Given the description of an element on the screen output the (x, y) to click on. 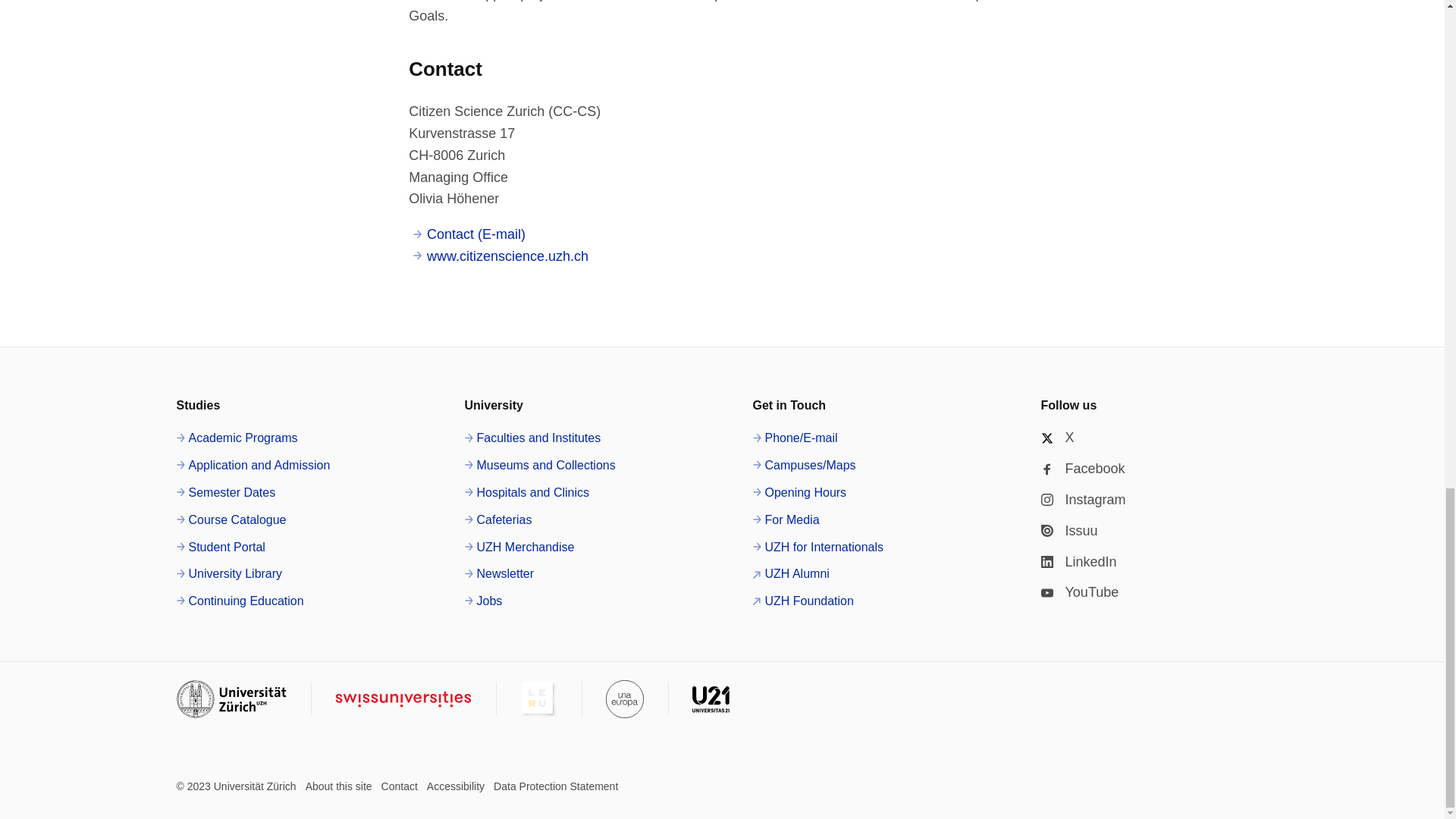
Course Catalogue (230, 519)
Opening Hours (798, 492)
Faculties and Institutes (531, 437)
Cafeterias (497, 519)
University Library (229, 573)
Jobs (483, 600)
Semester Dates (225, 492)
UZH Merchandise (518, 547)
Newsletter (499, 573)
Museums and Collections (539, 465)
Hospitals and Clinics (526, 492)
UZH for Internationals (817, 547)
Application and Admission (253, 465)
Continuing Education (239, 600)
Academic Programs (236, 437)
